Given the description of an element on the screen output the (x, y) to click on. 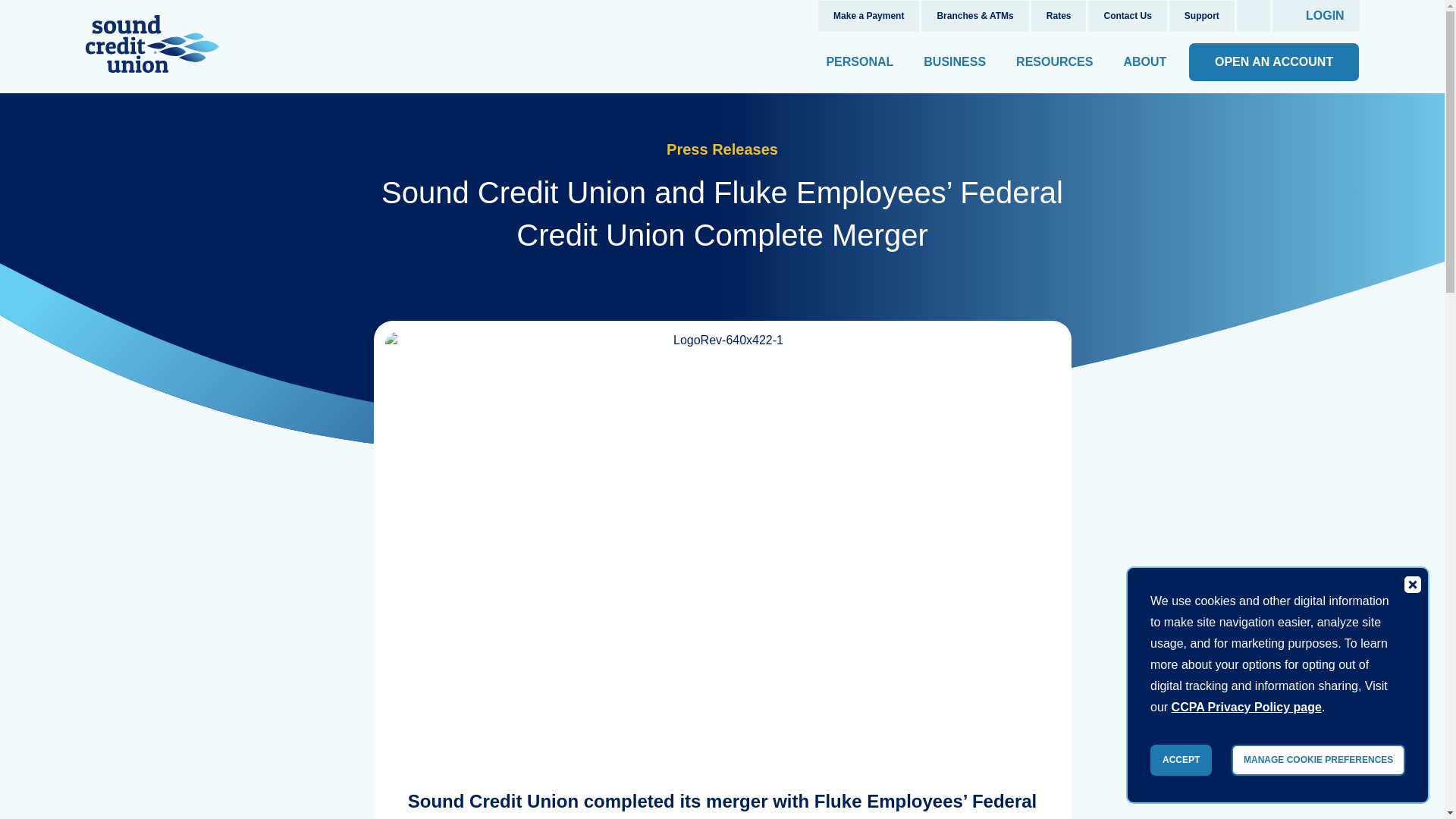
Make a Payment (868, 15)
Rates (1058, 15)
PERSONAL (859, 62)
Contact Us (1126, 15)
Support (1201, 15)
LOGIN (1315, 15)
